Given the description of an element on the screen output the (x, y) to click on. 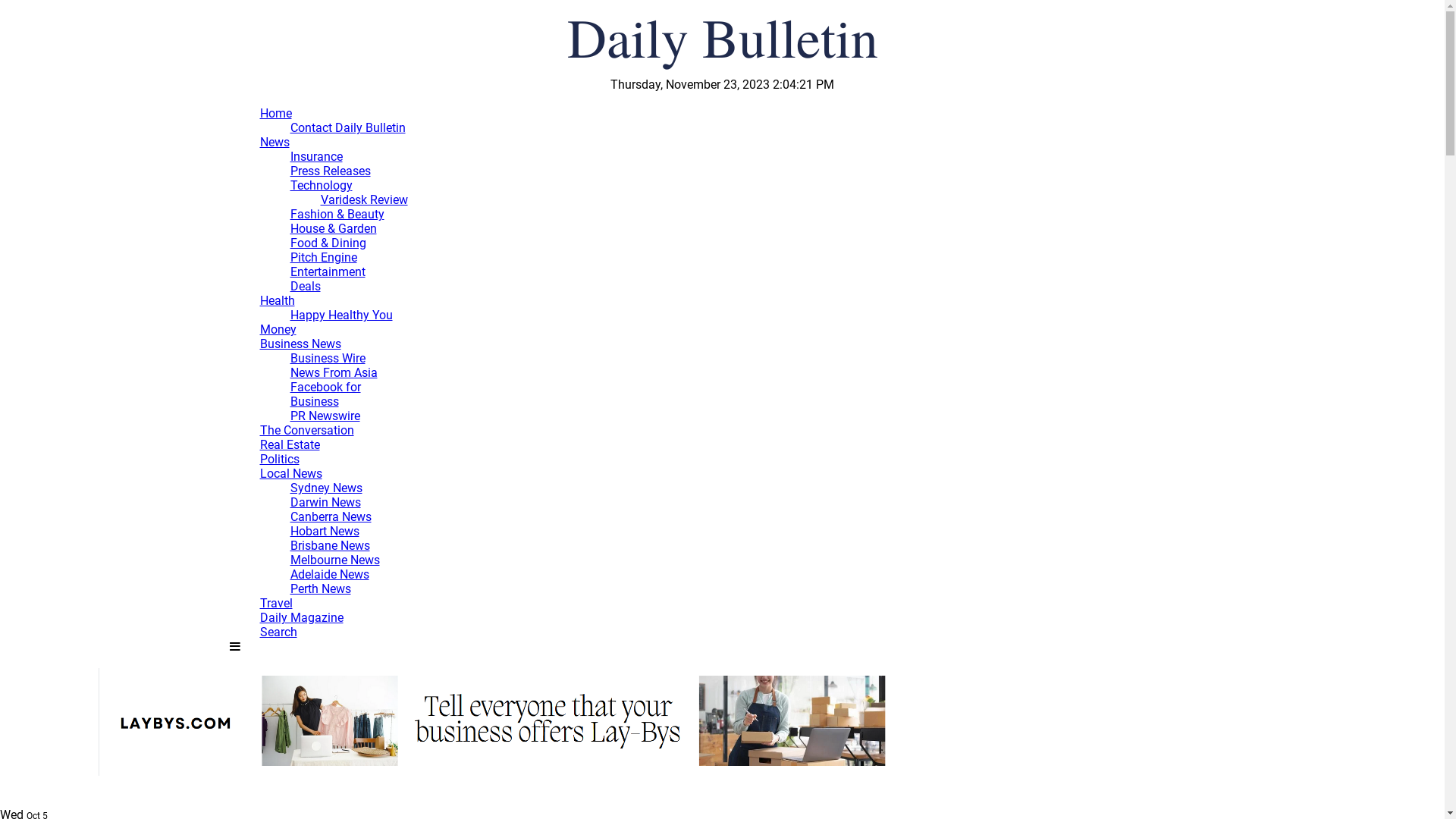
Travel Element type: text (275, 603)
Money Element type: text (277, 329)
Press Releases Element type: text (329, 170)
News From Asia Element type: text (332, 372)
Happy Healthy You Element type: text (340, 314)
Daily Magazine Element type: text (300, 617)
House & Garden Element type: text (332, 228)
Search Element type: text (277, 631)
Melbourne News Element type: text (334, 559)
Fashion & Beauty Element type: text (336, 214)
Brisbane News Element type: text (329, 545)
Local News Element type: text (290, 473)
Hobart News Element type: text (323, 531)
Varidesk Review Element type: text (363, 199)
Business News Element type: text (299, 343)
Politics Element type: text (278, 458)
Contact Daily Bulletin Element type: text (346, 127)
Perth News Element type: text (319, 588)
Business Wire Element type: text (326, 358)
Technology Element type: text (320, 185)
Entertainment Element type: text (326, 271)
Sydney News Element type: text (325, 487)
Pitch Engine Element type: text (322, 257)
Facebook for Business Element type: text (324, 393)
Home Element type: text (275, 113)
Real Estate Element type: text (289, 444)
Health Element type: text (276, 300)
News Element type: text (273, 141)
Adelaide News Element type: text (328, 574)
Canberra News Element type: text (329, 516)
Darwin News Element type: text (324, 502)
The Conversation Element type: text (306, 430)
PR Newswire Element type: text (324, 415)
Deals Element type: text (304, 286)
Insurance Element type: text (315, 156)
Food & Dining Element type: text (327, 242)
